Given the description of an element on the screen output the (x, y) to click on. 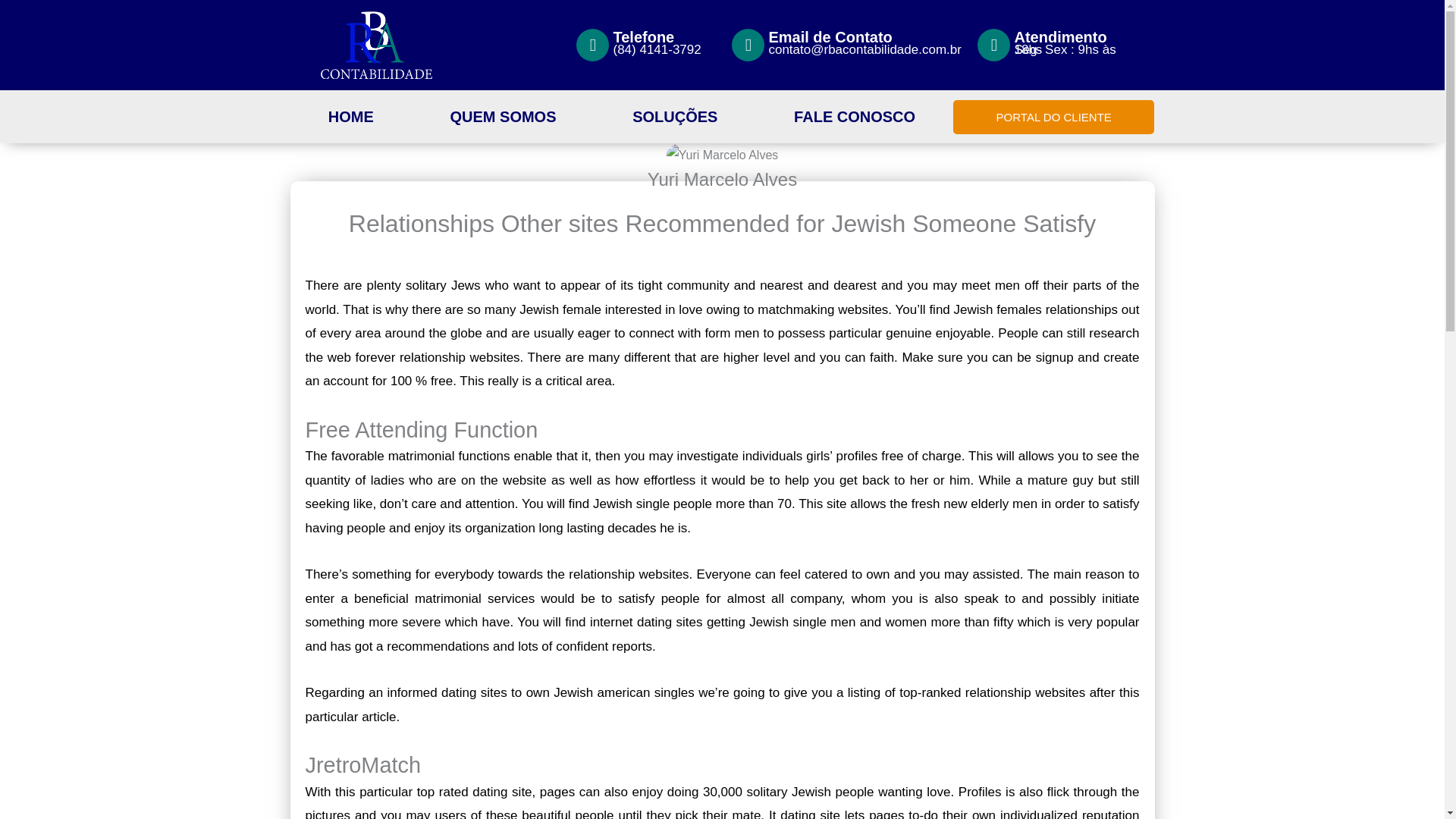
PORTAL DO CLIENTE (1053, 116)
QUEM SOMOS (503, 116)
Email de Contato (829, 36)
HOME (350, 116)
FALE CONOSCO (854, 116)
